Given the description of an element on the screen output the (x, y) to click on. 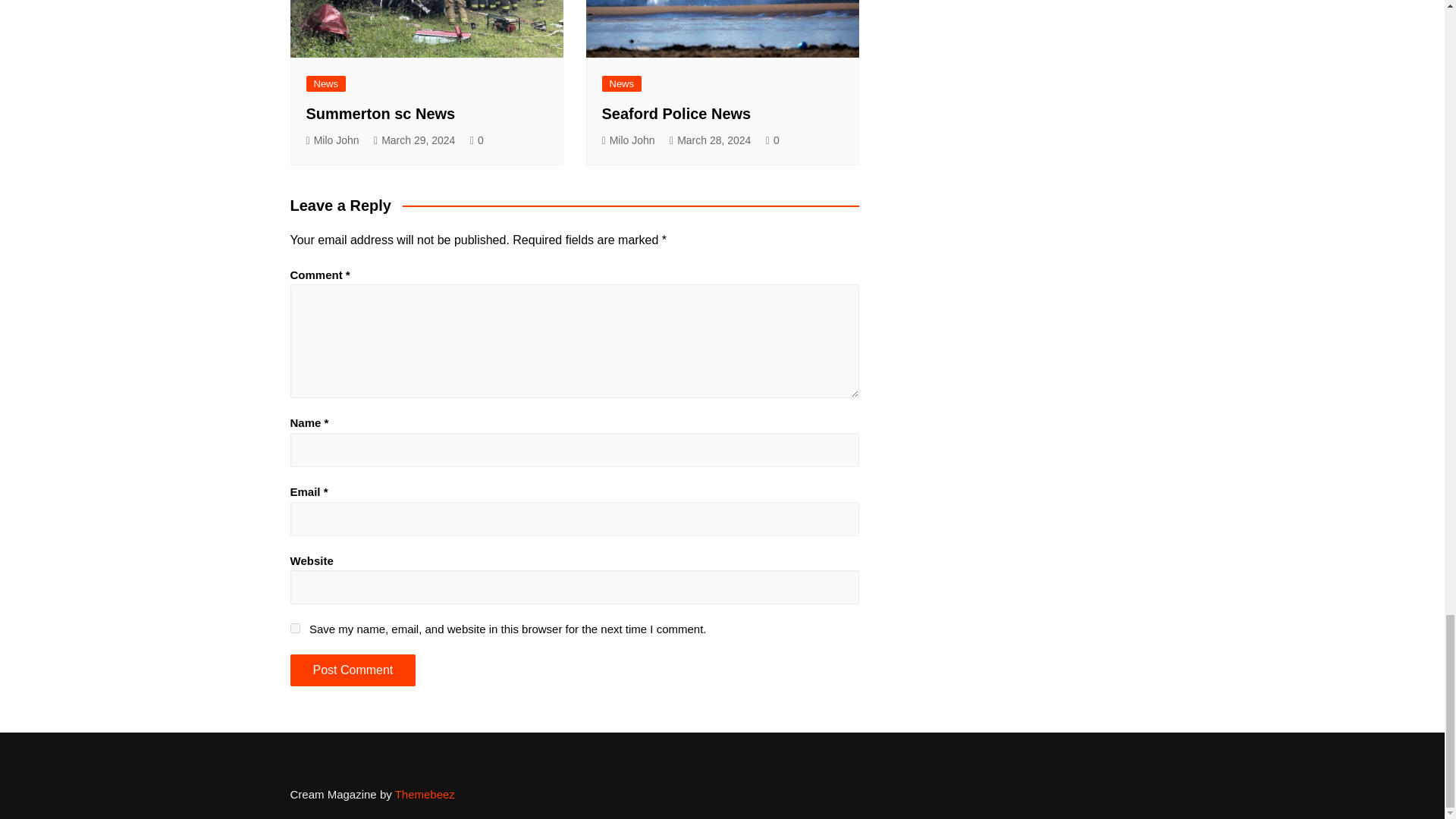
yes (294, 628)
Post Comment (351, 670)
